Given the description of an element on the screen output the (x, y) to click on. 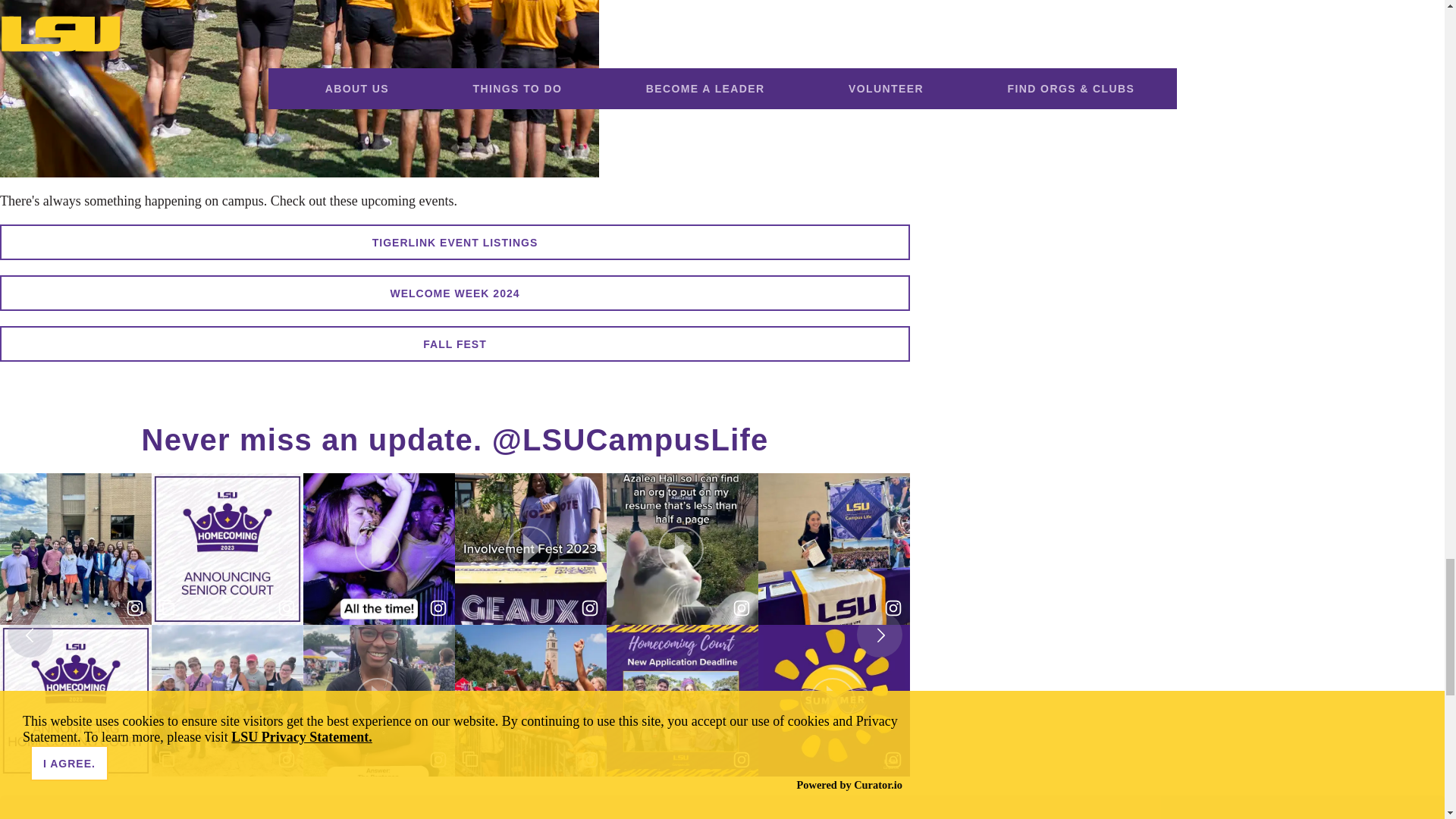
leaving lsu.edu (455, 242)
